Given the description of an element on the screen output the (x, y) to click on. 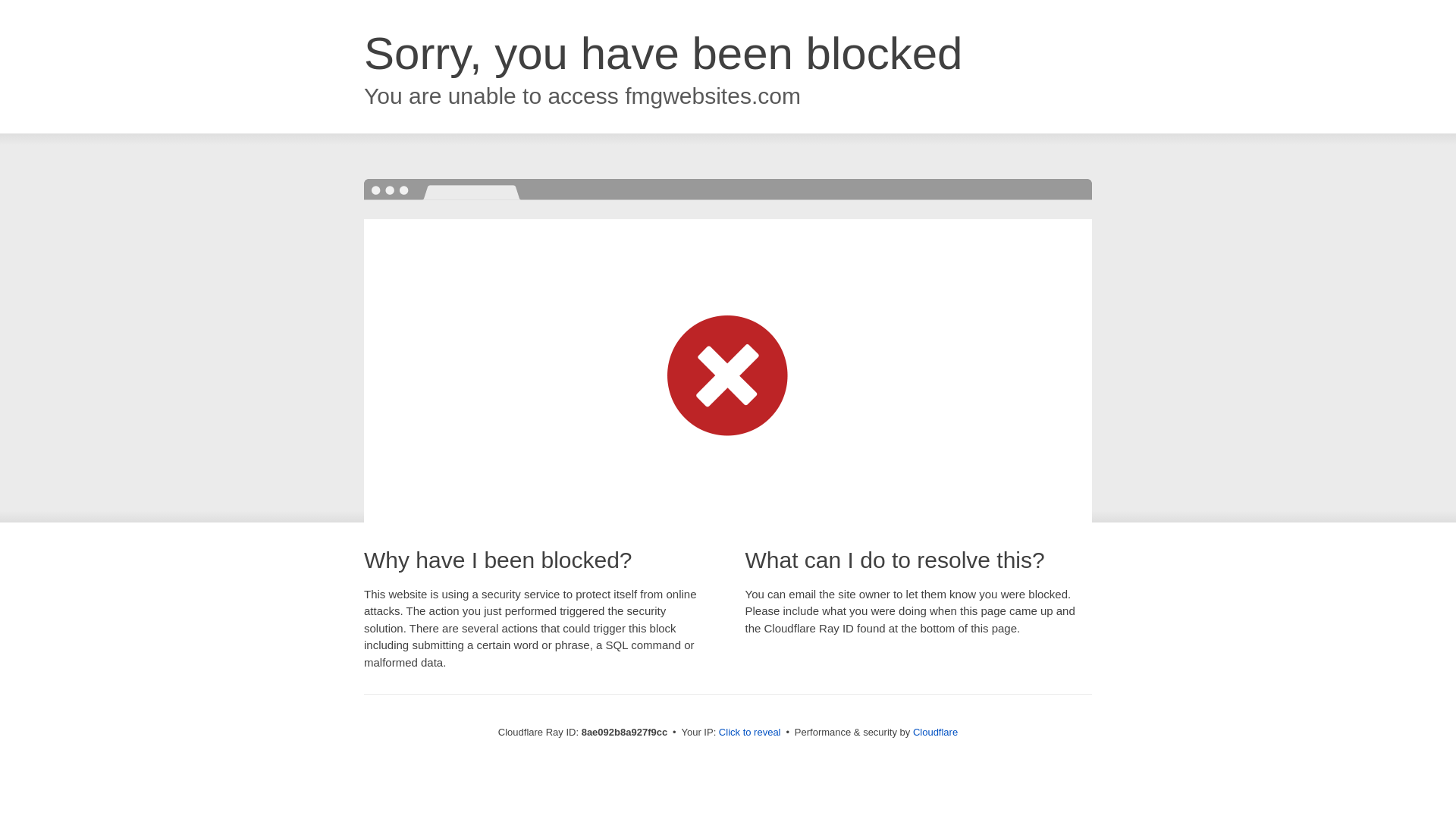
Cloudflare (935, 731)
Click to reveal (749, 732)
